Given the description of an element on the screen output the (x, y) to click on. 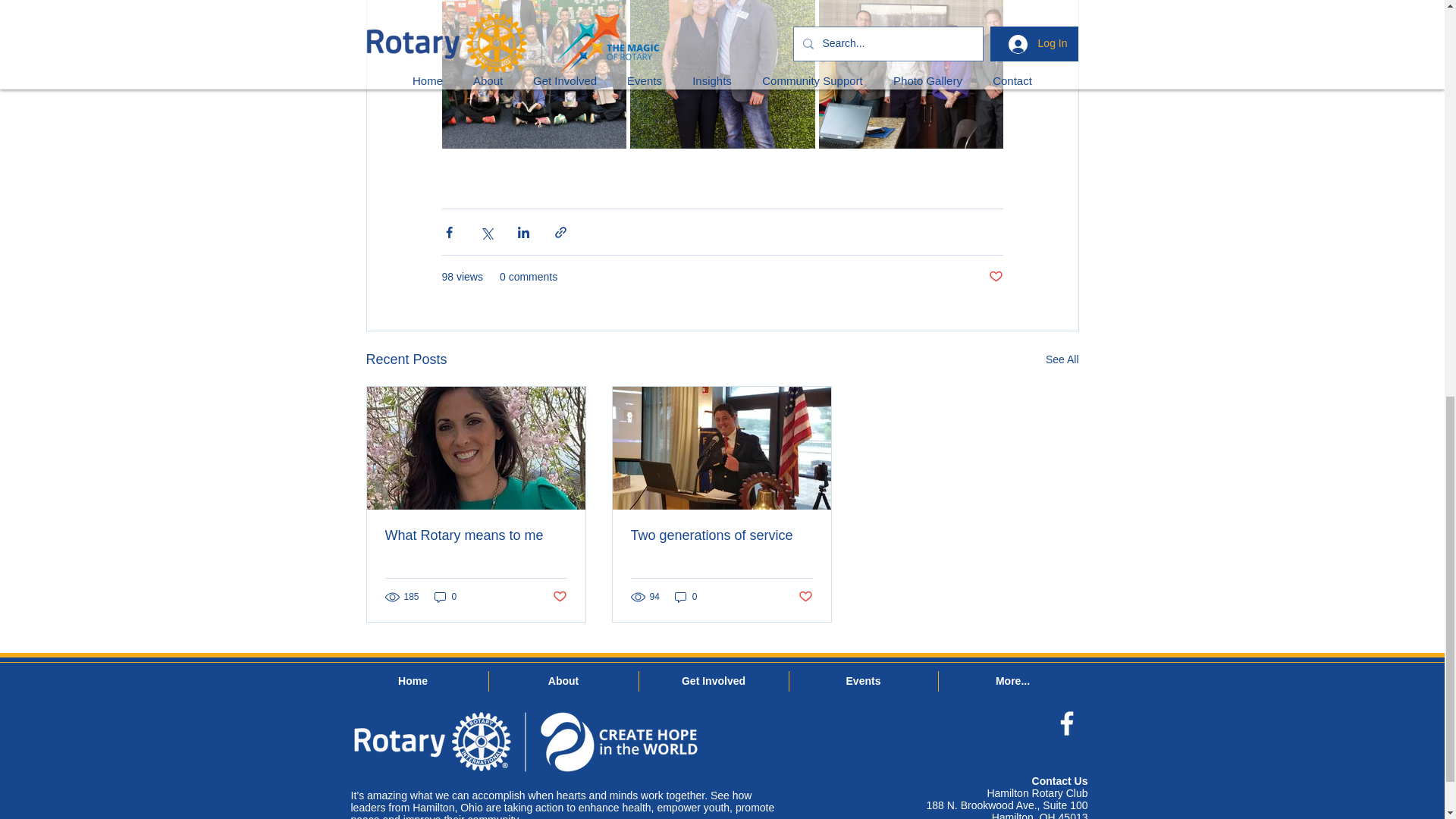
What Rotary means to me (476, 535)
Post not marked as liked (995, 277)
See All (1061, 359)
0 (685, 596)
Post not marked as liked (804, 596)
Home (412, 680)
Two generations of service (721, 535)
0 (445, 596)
Post not marked as liked (558, 596)
